Given the description of an element on the screen output the (x, y) to click on. 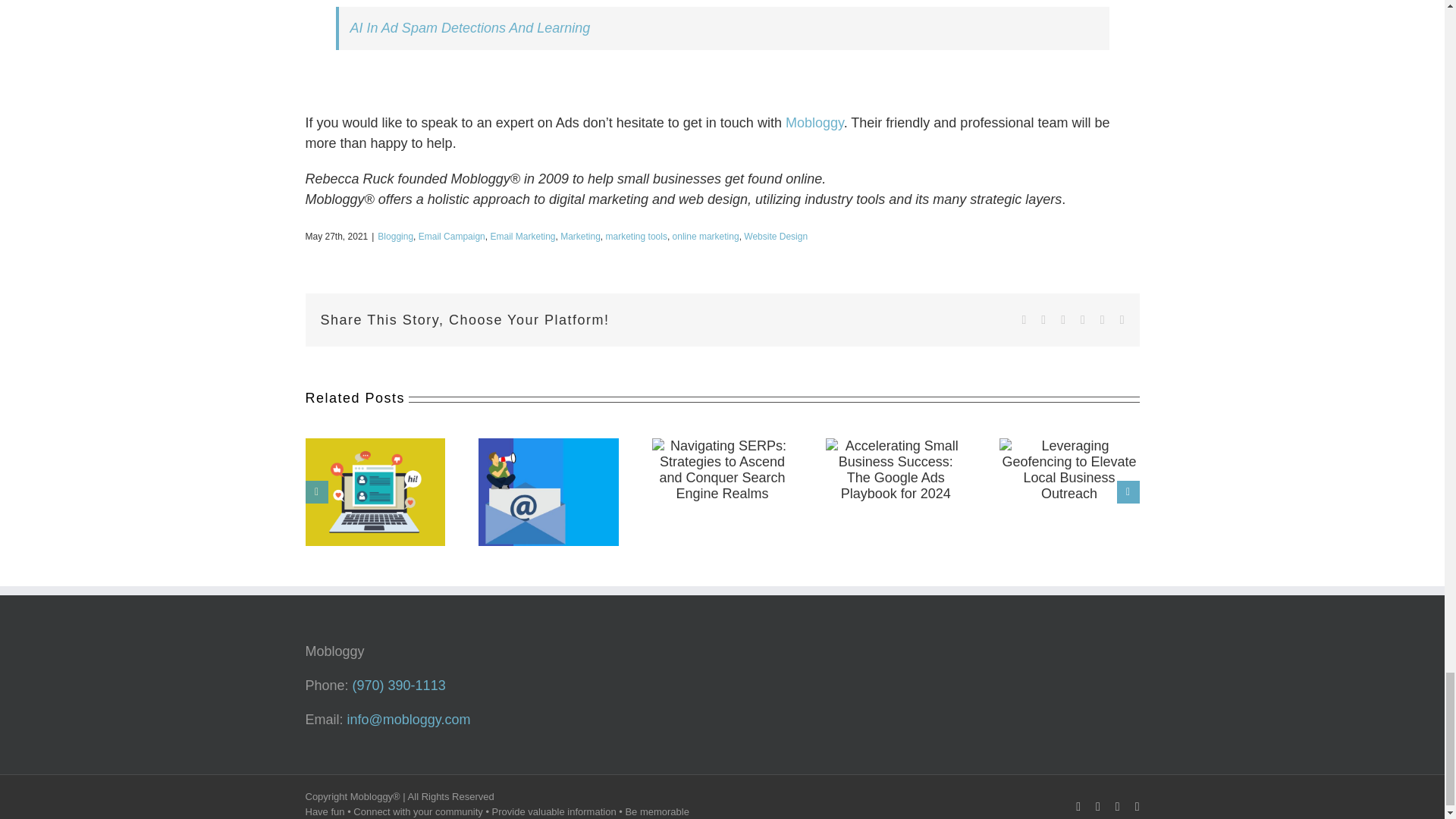
Blogging (395, 235)
Marketing (579, 235)
online marketing (705, 235)
Email Marketing (521, 235)
marketing tools (635, 235)
Mobloggy (815, 122)
Email Campaign (451, 235)
AI In Ad Spam Detections And Learning (470, 28)
Website Design (776, 235)
